Given the description of an element on the screen output the (x, y) to click on. 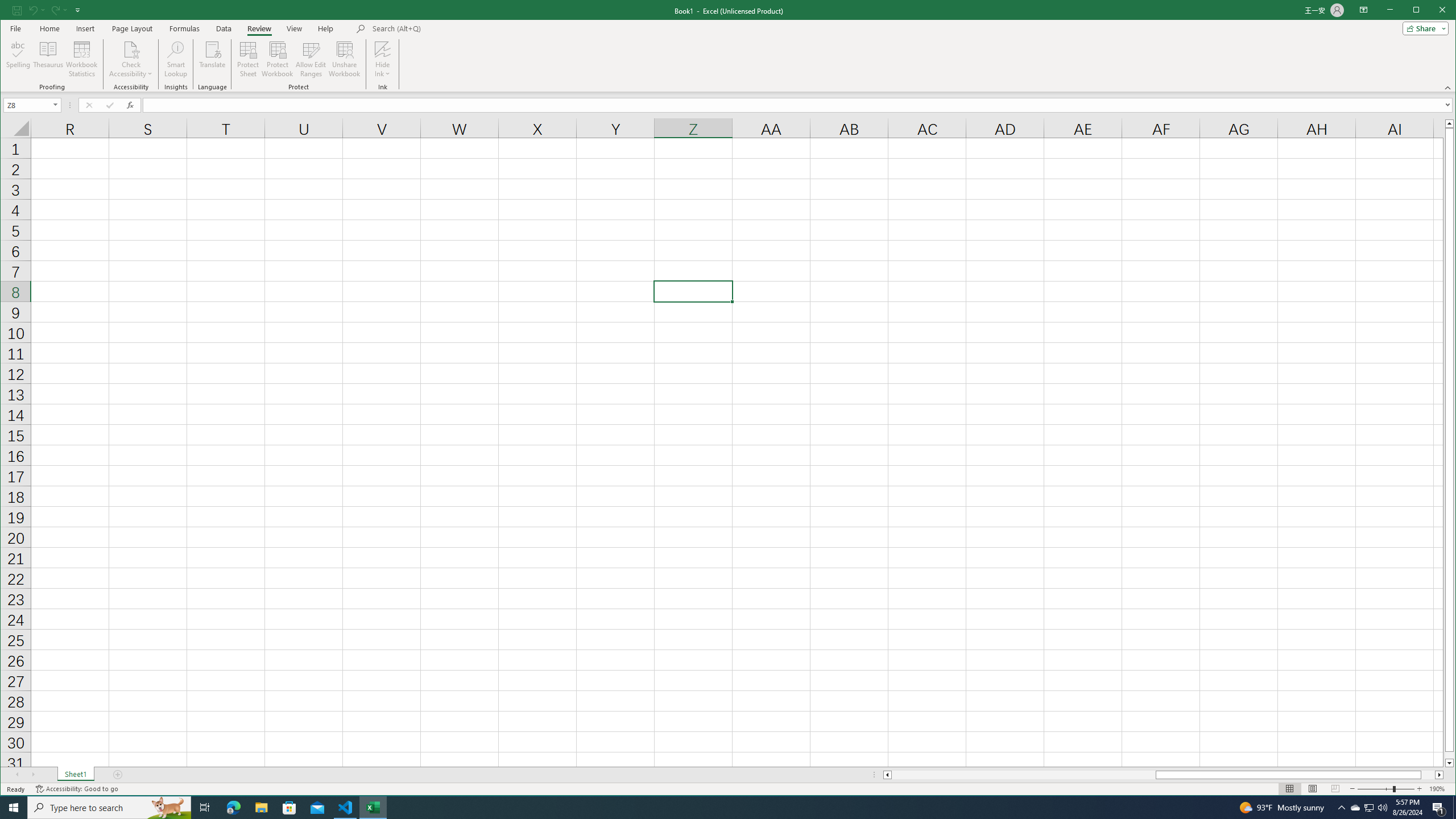
Notification Chevron (1341, 807)
Start (13, 807)
Excel - 1 running window (1355, 807)
Allow Edit Ranges (373, 807)
User Promoted Notification Area (310, 59)
